Given the description of an element on the screen output the (x, y) to click on. 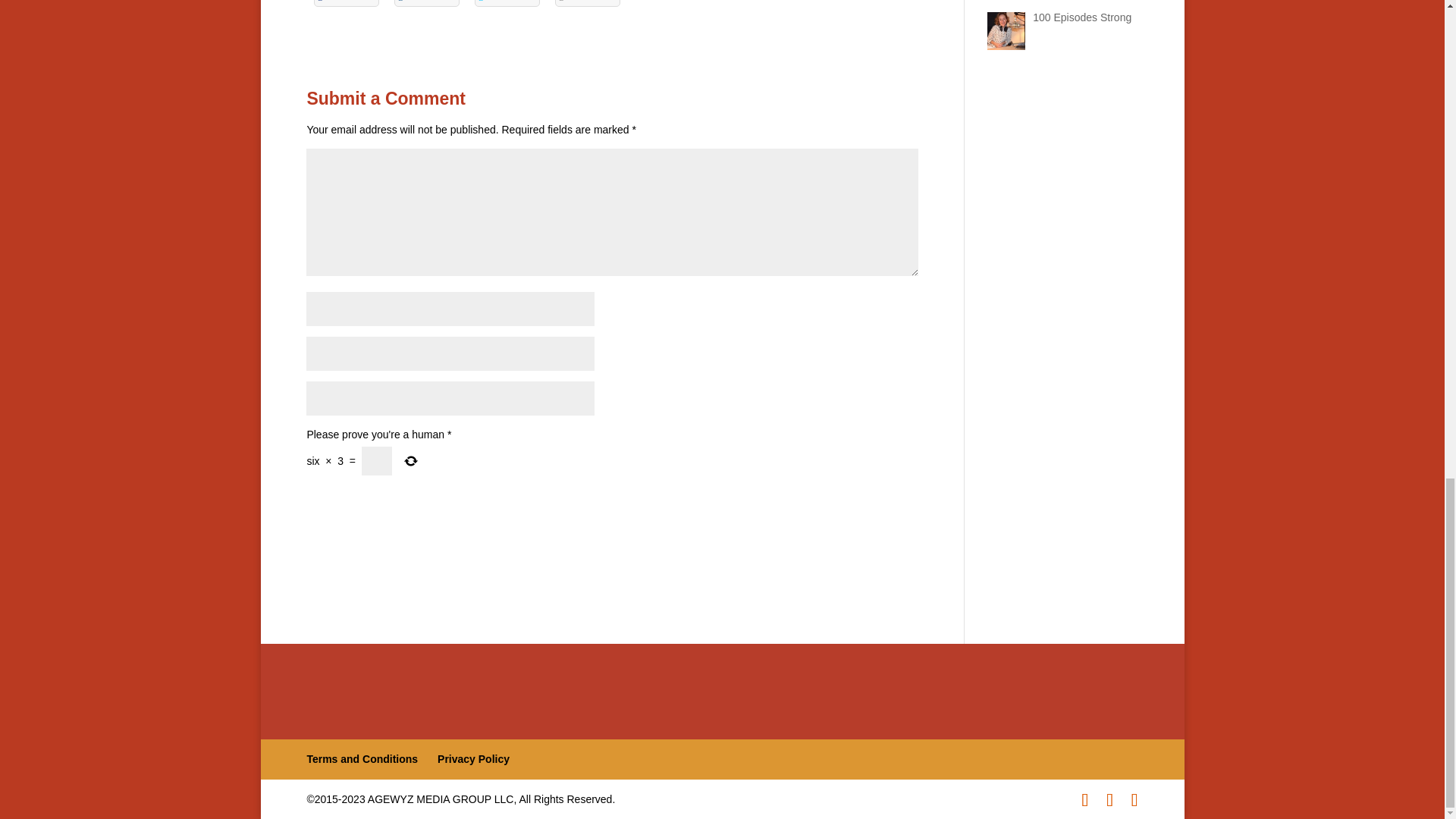
Share it on Email (587, 2)
Share (346, 2)
Tweet (507, 2)
Share on LinkedIn (427, 2)
Share (427, 2)
Share on Twitter (507, 2)
Submit Comment (843, 505)
Mail (587, 2)
Share on Facebook (346, 2)
Submit Comment (843, 505)
